Given the description of an element on the screen output the (x, y) to click on. 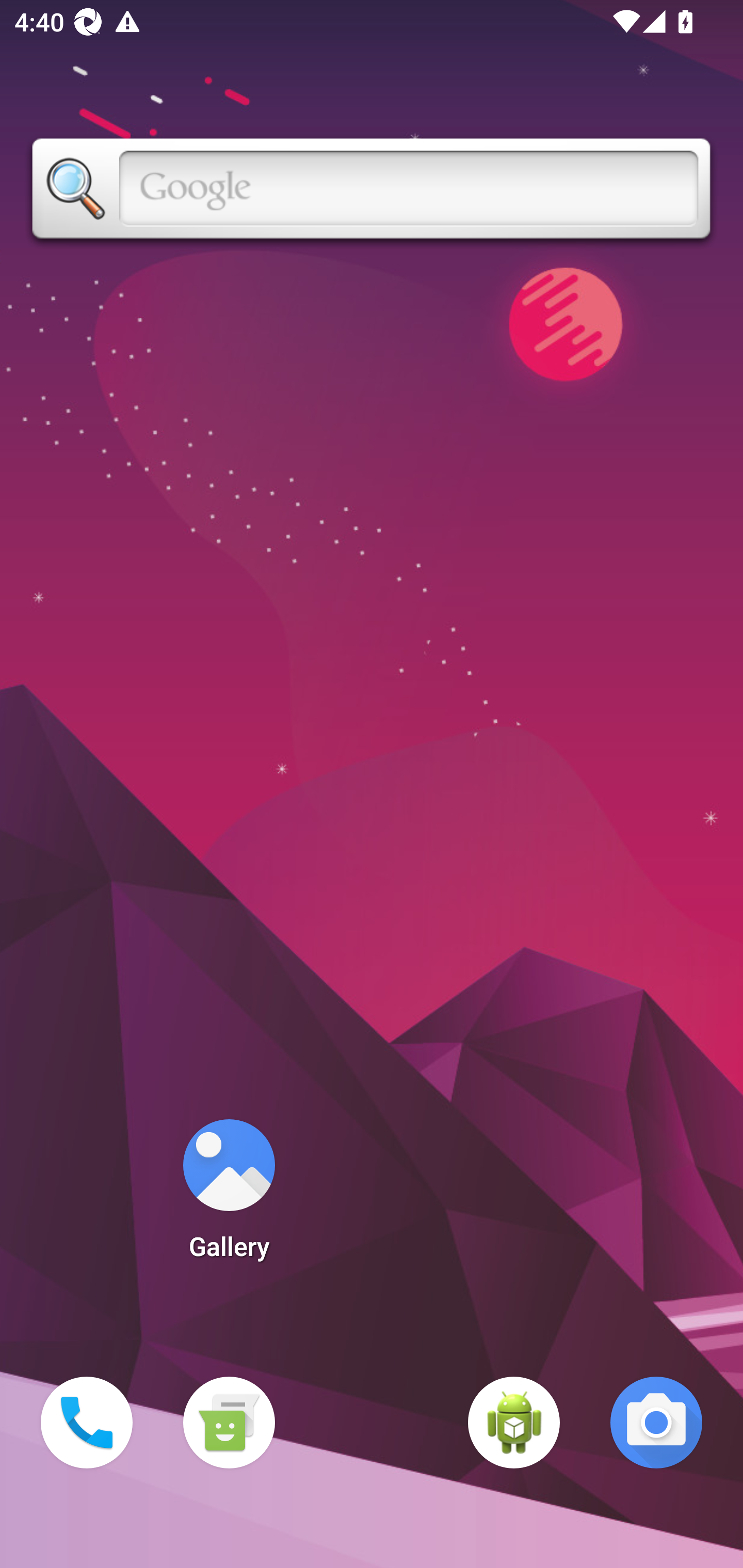
Gallery (228, 1195)
Phone (86, 1422)
Messaging (228, 1422)
WebView Browser Tester (513, 1422)
Camera (656, 1422)
